Given the description of an element on the screen output the (x, y) to click on. 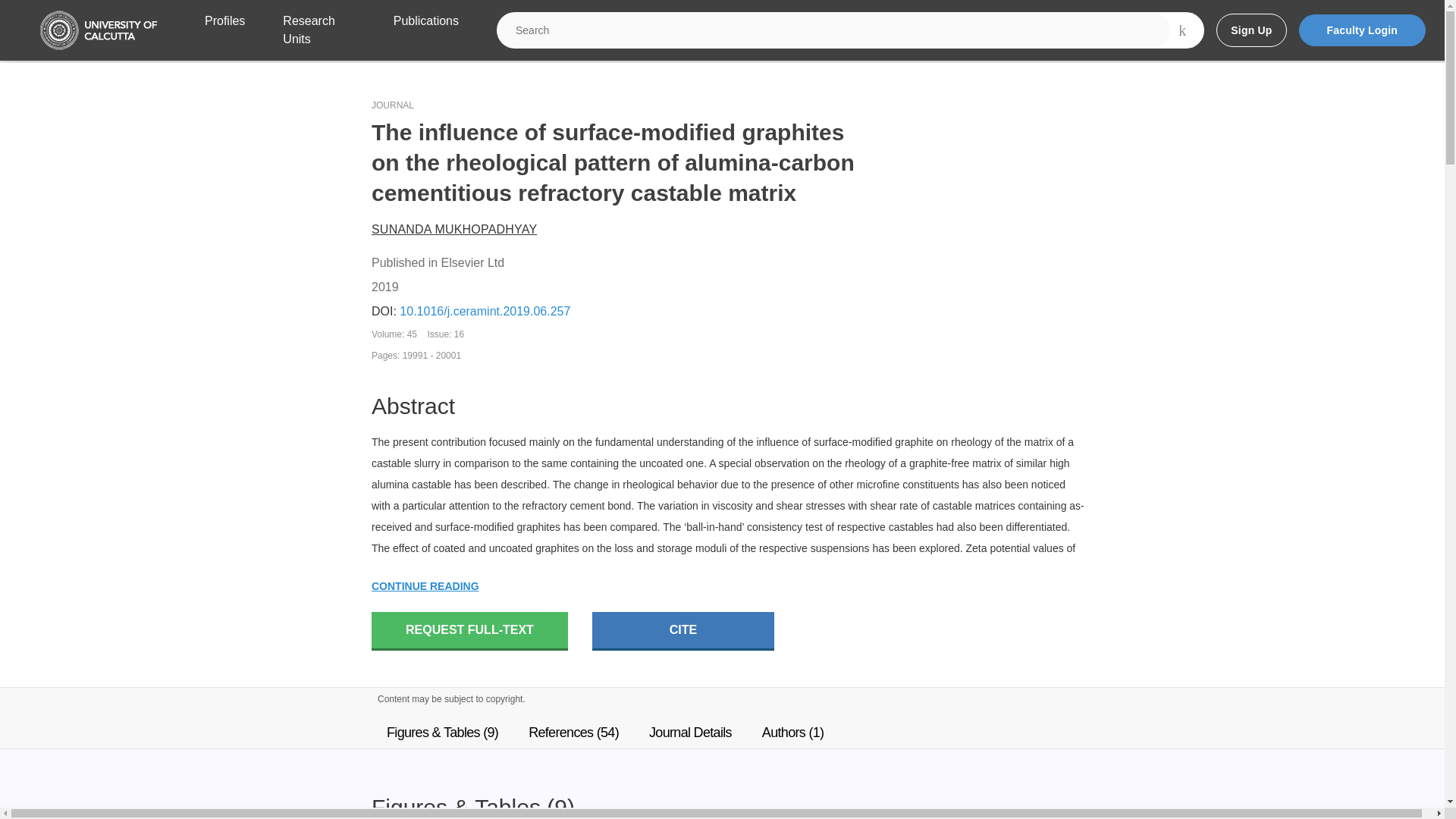
Publications (425, 30)
Research Units (318, 30)
Profiles (224, 30)
CITE (683, 630)
Faculty Login (1361, 29)
Sign Up (1250, 29)
REQUEST FULL-TEXT (469, 630)
Journal Details (689, 732)
Institution logo (98, 30)
SUNANDA MUKHOPADHYAY (454, 228)
